Given the description of an element on the screen output the (x, y) to click on. 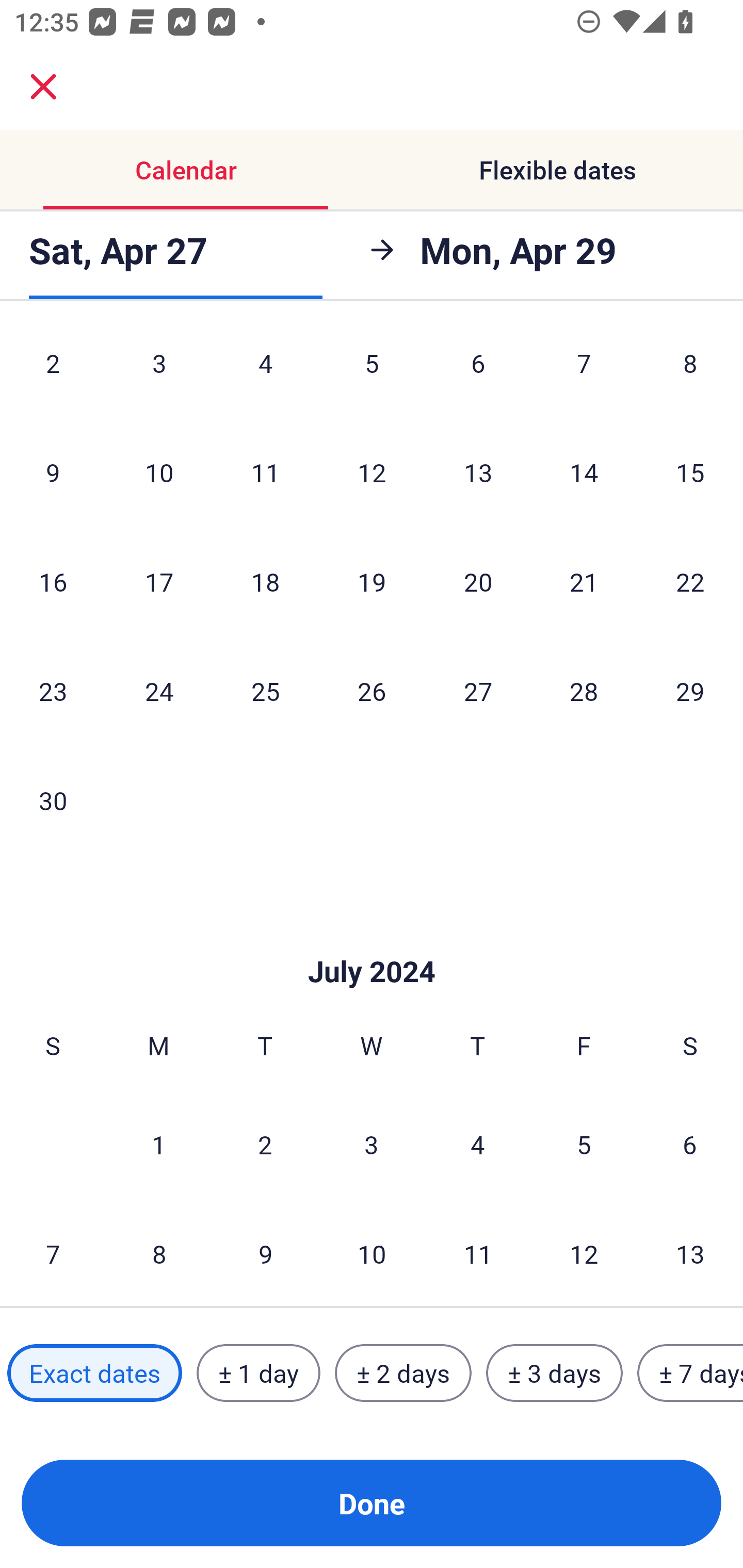
close. (43, 86)
Flexible dates (557, 170)
2 Sunday, June 2, 2024 (53, 372)
3 Monday, June 3, 2024 (159, 372)
4 Tuesday, June 4, 2024 (265, 372)
5 Wednesday, June 5, 2024 (371, 372)
6 Thursday, June 6, 2024 (477, 372)
7 Friday, June 7, 2024 (584, 372)
8 Saturday, June 8, 2024 (690, 372)
9 Sunday, June 9, 2024 (53, 471)
10 Monday, June 10, 2024 (159, 471)
11 Tuesday, June 11, 2024 (265, 471)
12 Wednesday, June 12, 2024 (371, 471)
13 Thursday, June 13, 2024 (477, 471)
14 Friday, June 14, 2024 (584, 471)
15 Saturday, June 15, 2024 (690, 471)
16 Sunday, June 16, 2024 (53, 581)
17 Monday, June 17, 2024 (159, 581)
18 Tuesday, June 18, 2024 (265, 581)
19 Wednesday, June 19, 2024 (371, 581)
20 Thursday, June 20, 2024 (477, 581)
21 Friday, June 21, 2024 (584, 581)
22 Saturday, June 22, 2024 (690, 581)
23 Sunday, June 23, 2024 (53, 690)
24 Monday, June 24, 2024 (159, 690)
25 Tuesday, June 25, 2024 (265, 690)
26 Wednesday, June 26, 2024 (371, 690)
27 Thursday, June 27, 2024 (477, 690)
28 Friday, June 28, 2024 (584, 690)
29 Saturday, June 29, 2024 (690, 690)
30 Sunday, June 30, 2024 (53, 799)
Skip to Done (371, 940)
1 Monday, July 1, 2024 (158, 1143)
2 Tuesday, July 2, 2024 (264, 1143)
3 Wednesday, July 3, 2024 (371, 1143)
4 Thursday, July 4, 2024 (477, 1143)
5 Friday, July 5, 2024 (583, 1143)
6 Saturday, July 6, 2024 (689, 1143)
7 Sunday, July 7, 2024 (53, 1253)
8 Monday, July 8, 2024 (159, 1253)
9 Tuesday, July 9, 2024 (265, 1253)
10 Wednesday, July 10, 2024 (371, 1253)
11 Thursday, July 11, 2024 (477, 1253)
12 Friday, July 12, 2024 (584, 1253)
13 Saturday, July 13, 2024 (690, 1253)
Exact dates (94, 1372)
± 1 day (258, 1372)
± 2 days (403, 1372)
± 3 days (553, 1372)
± 7 days (690, 1372)
